Given the description of an element on the screen output the (x, y) to click on. 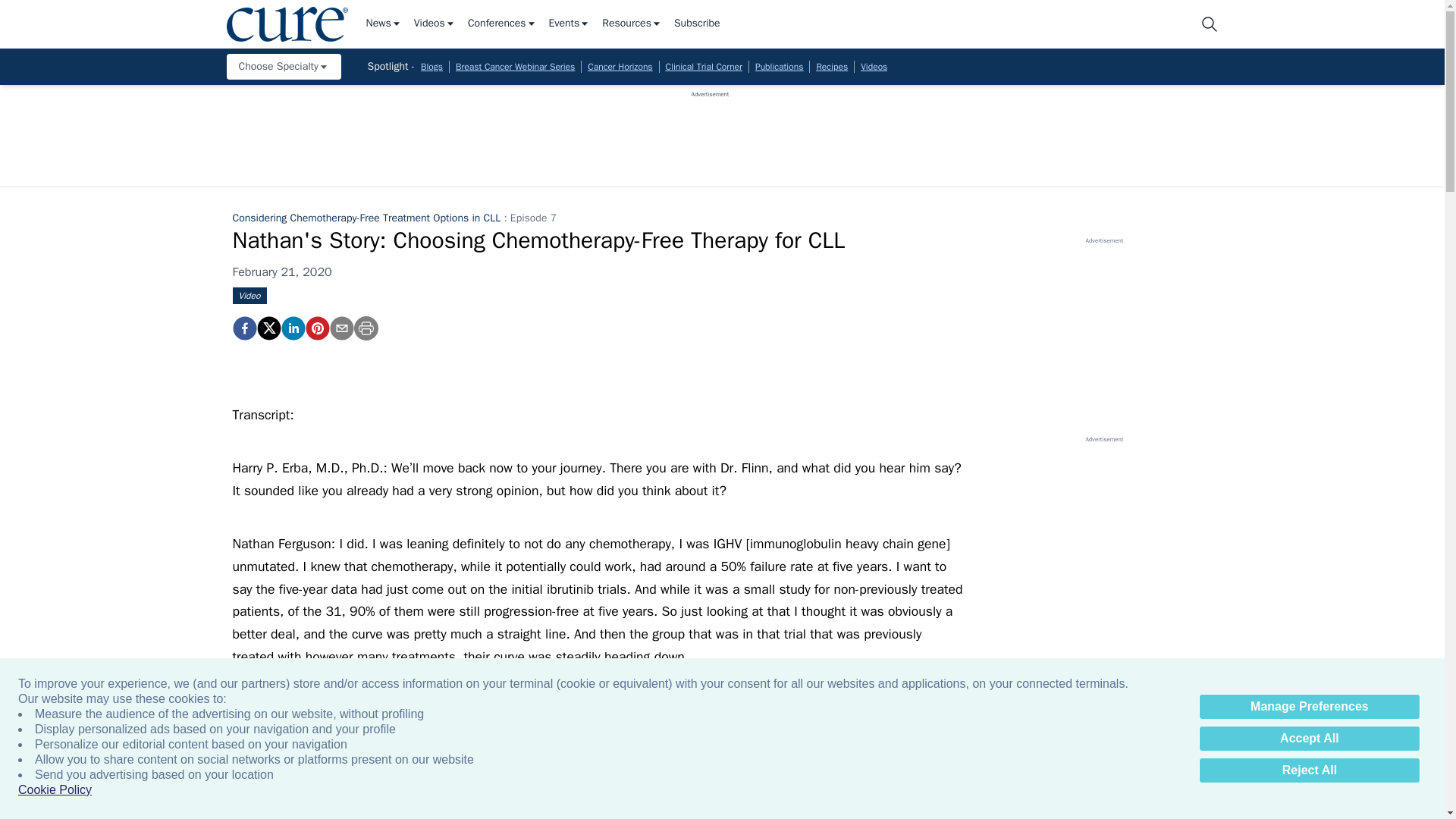
3rd party ad content (709, 132)
Nathan's Story: Choosing Chemotherapy-Free Therapy for CLL (243, 328)
Videos (434, 23)
Accept All (1309, 738)
Nathan's Story: Choosing Chemotherapy-Free Therapy for CLL (316, 328)
Manage Preferences (1309, 706)
Cookie Policy (54, 789)
Conferences (502, 23)
Events (569, 23)
Reject All (1309, 769)
